Given the description of an element on the screen output the (x, y) to click on. 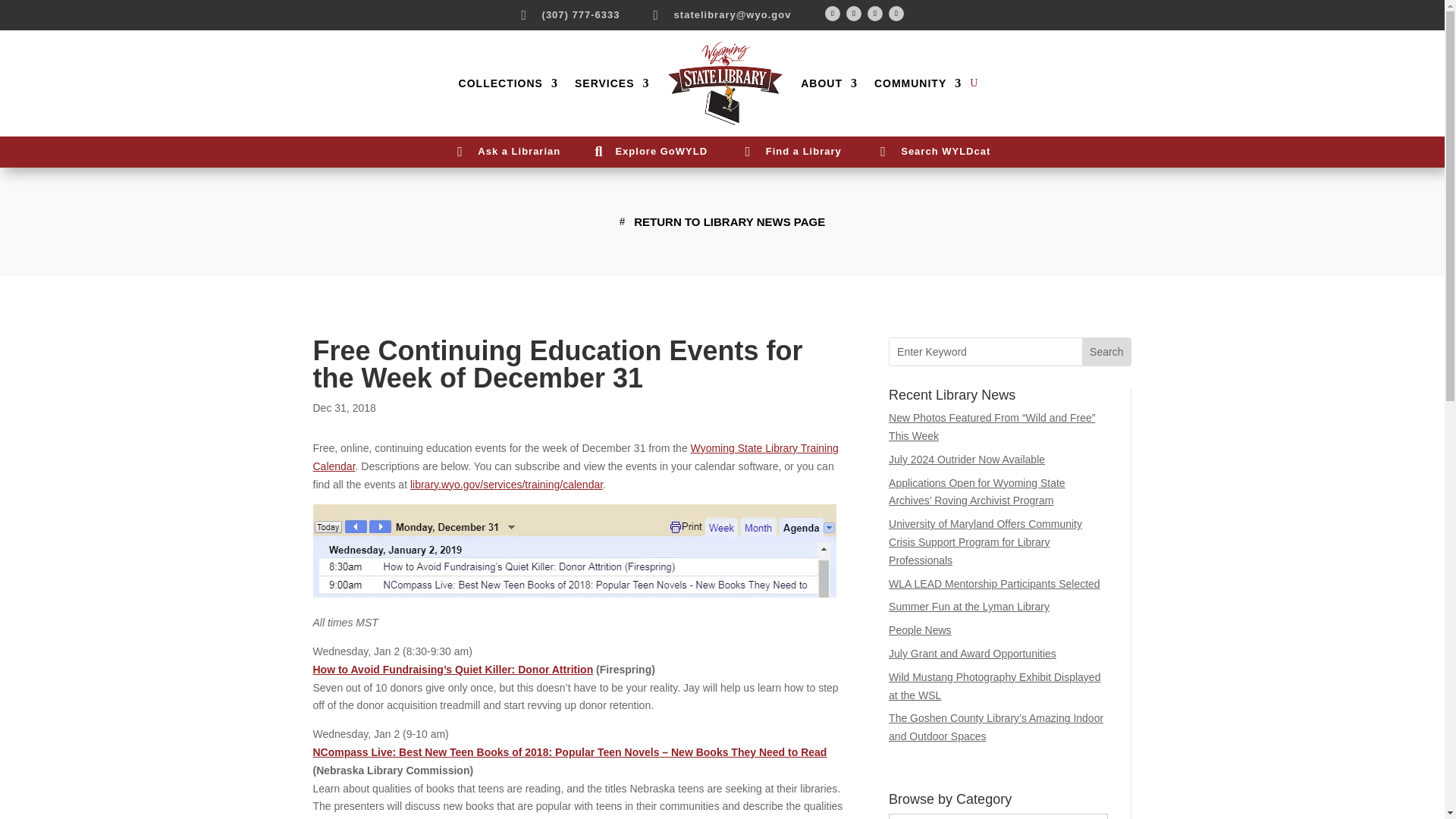
Twitter (853, 13)
Follow on Facebook (832, 13)
Search (1106, 351)
Follow on LinkedIn (896, 13)
COLLECTIONS (507, 83)
Youtube (874, 13)
COMMUNITY (917, 83)
Follow on X (853, 13)
Follow on Youtube (874, 13)
Linkedin (896, 13)
Facebook (832, 13)
SERVICES (612, 83)
Search (1106, 351)
